Given the description of an element on the screen output the (x, y) to click on. 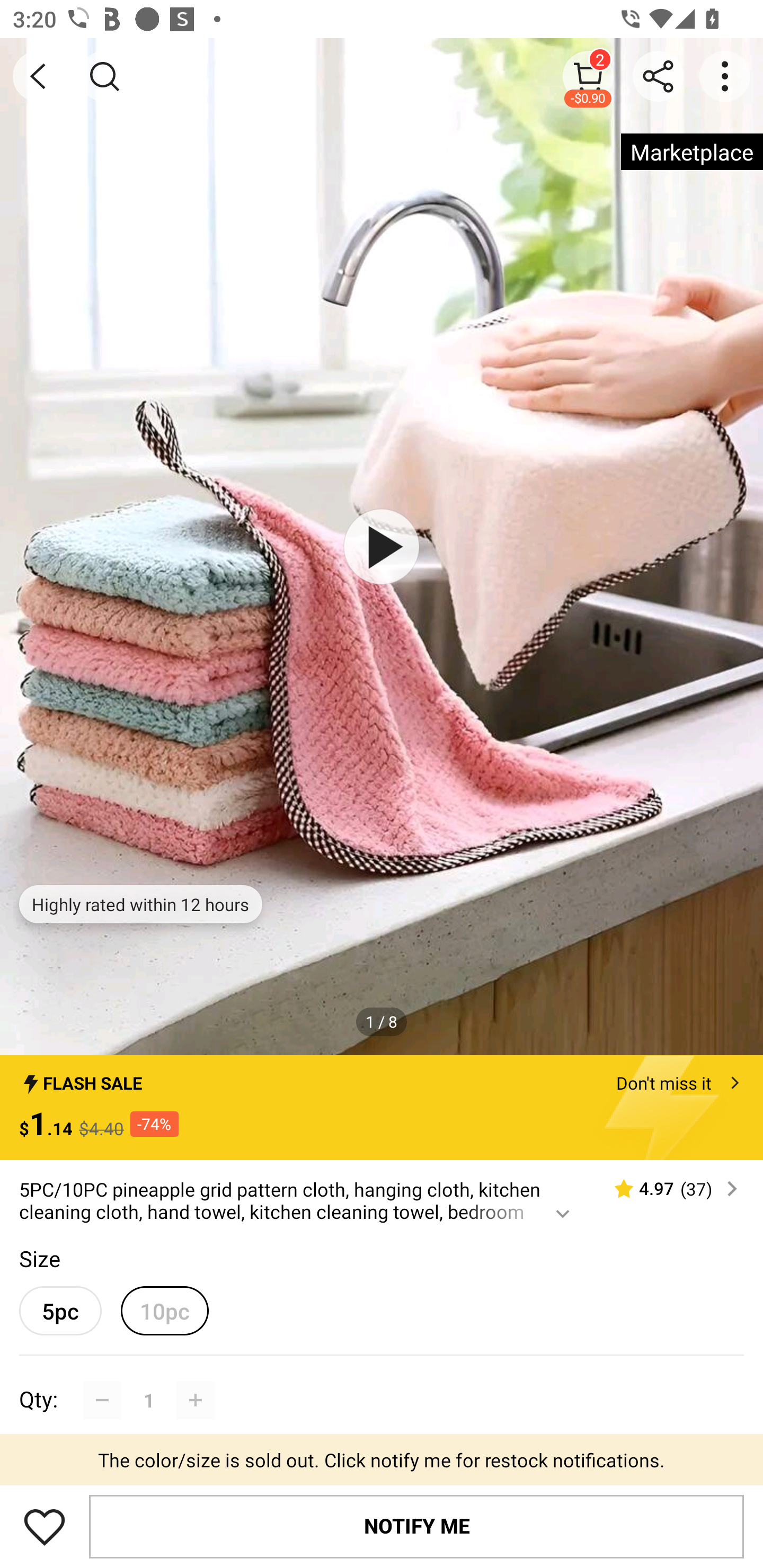
BACK (38, 75)
2 -$0.90 (588, 75)
1 / 8 (381, 1021)
FLASH SALE Don't miss it $1.14 $4.40 -74% (381, 1107)
FLASH SALE Don't miss it (381, 1077)
4.97 (37) (667, 1188)
Size (39, 1258)
5pc 5pcunselected option (60, 1310)
10pc (164, 1310)
Qty: 1 (381, 1380)
Promotion (381, 1464)
NOTIFY ME (416, 1526)
Save (44, 1526)
